Given the description of an element on the screen output the (x, y) to click on. 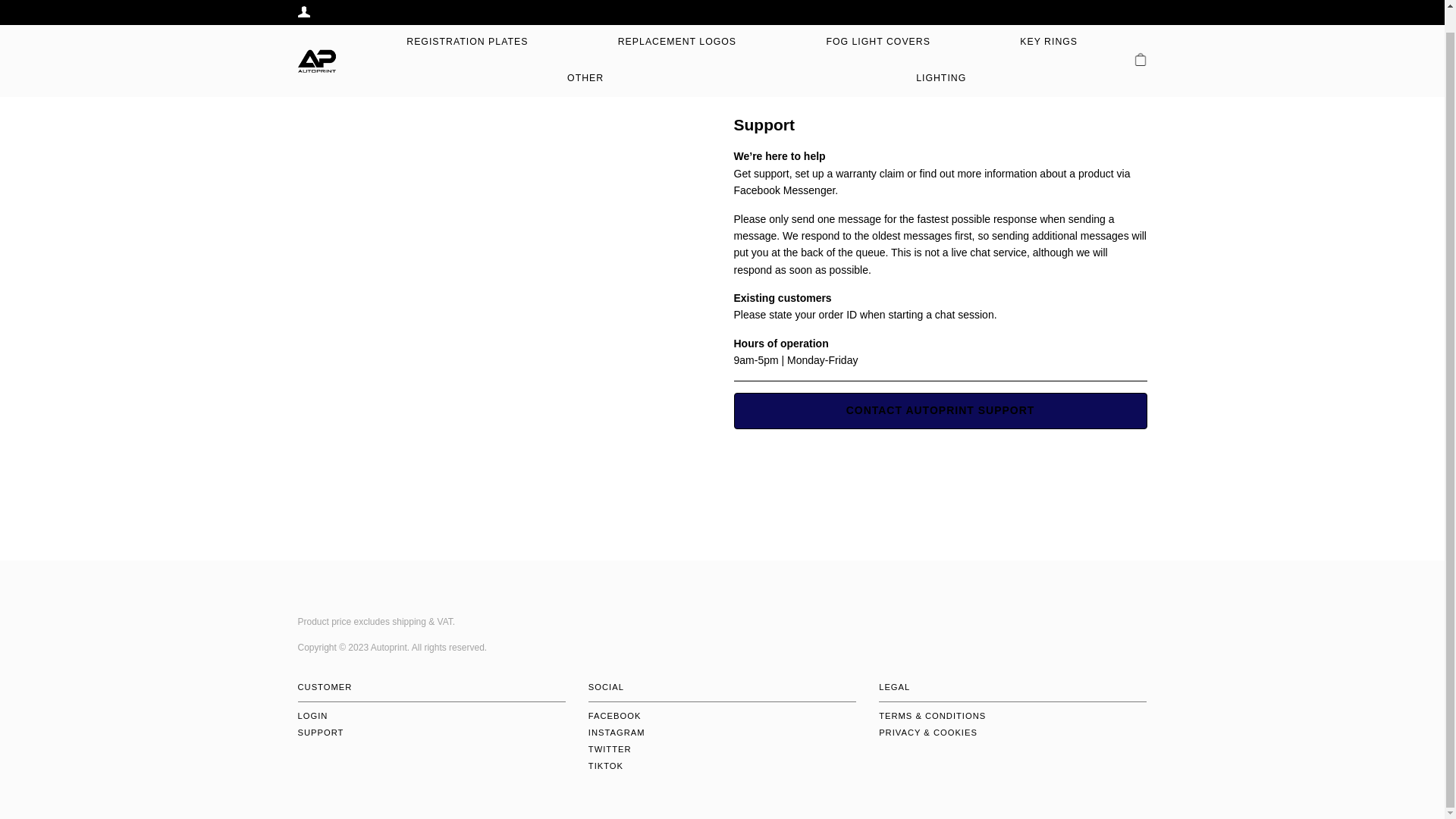
KEY RINGS (1048, 20)
FOG LIGHT COVERS (877, 20)
REGISTRATION PLATES (466, 20)
OTHER (585, 56)
REPLACEMENT LOGOS (676, 20)
CONTACT AUTOPRINT SUPPORT (940, 411)
LIGHTING (940, 56)
